Given the description of an element on the screen output the (x, y) to click on. 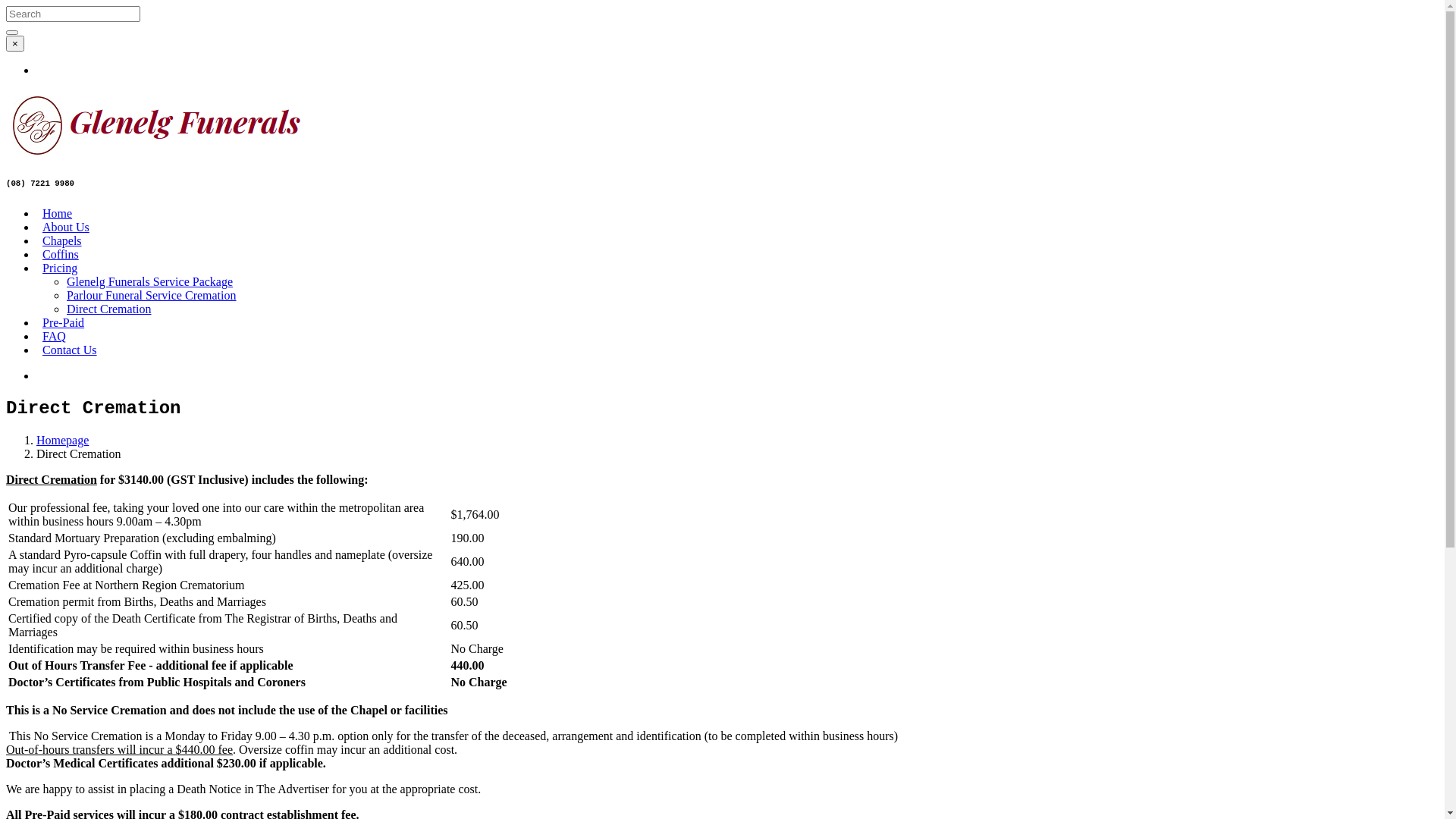
Pre-Paid Element type: text (63, 322)
Parlour Funeral Service Cremation Element type: text (151, 294)
Search Element type: text (12, 32)
About Us Element type: text (65, 226)
Coffins Element type: text (60, 254)
FAQ Element type: text (53, 336)
Pricing Element type: text (59, 267)
Search for: Element type: hover (73, 13)
Chapels Element type: text (61, 240)
Direct Cremation Element type: text (108, 308)
Home Element type: text (57, 213)
Homepage Element type: text (62, 439)
Glenelg Funerals Service Package Element type: text (149, 281)
Contact Us Element type: text (69, 349)
